Given the description of an element on the screen output the (x, y) to click on. 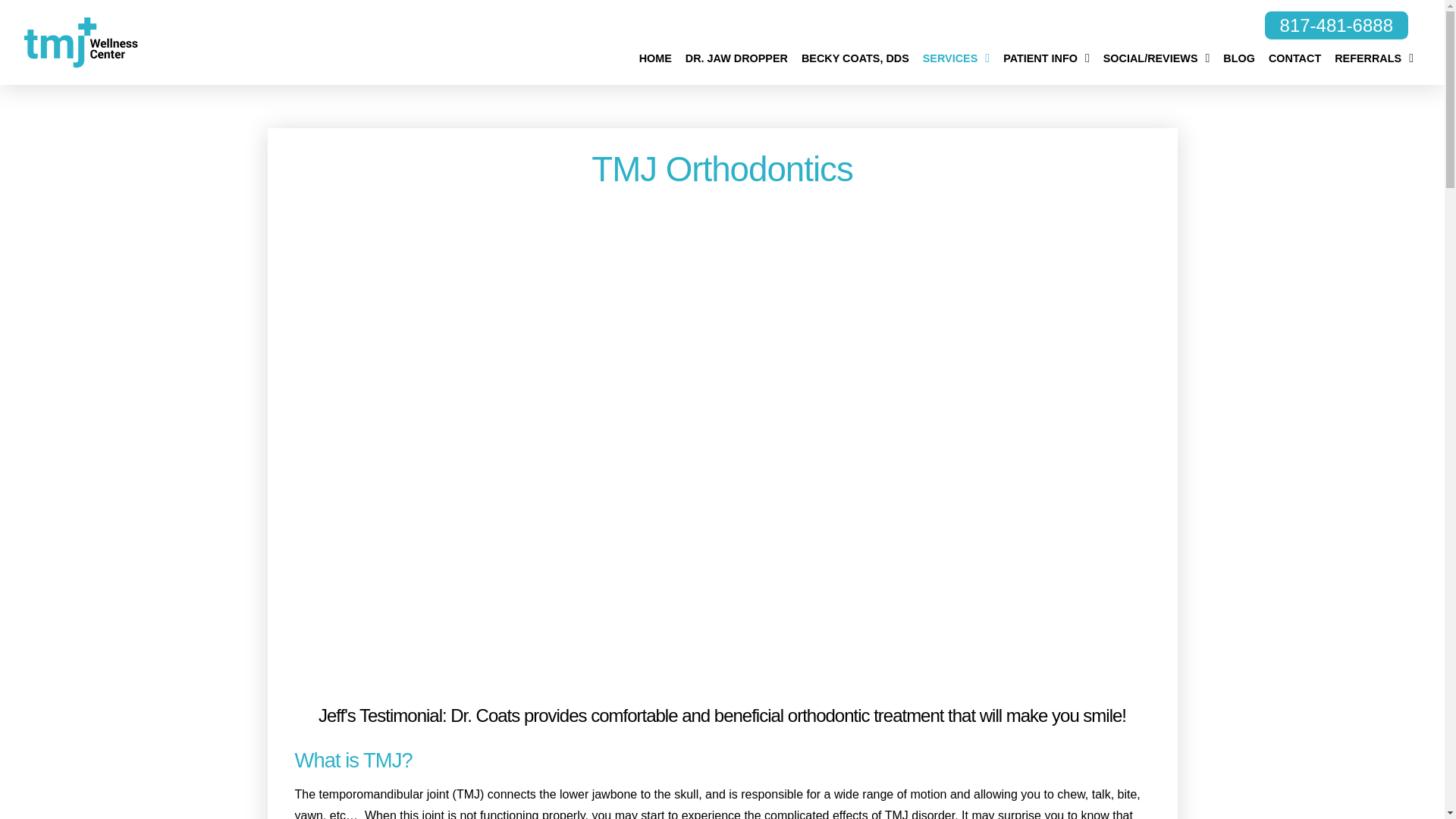
SERVICES (955, 53)
DR. JAW DROPPER (736, 53)
BECKY COATS, DDS (854, 53)
PATIENT INFO (1045, 53)
HOME (654, 53)
Phone Number (1336, 25)
817-481-6888 (1336, 25)
